Given the description of an element on the screen output the (x, y) to click on. 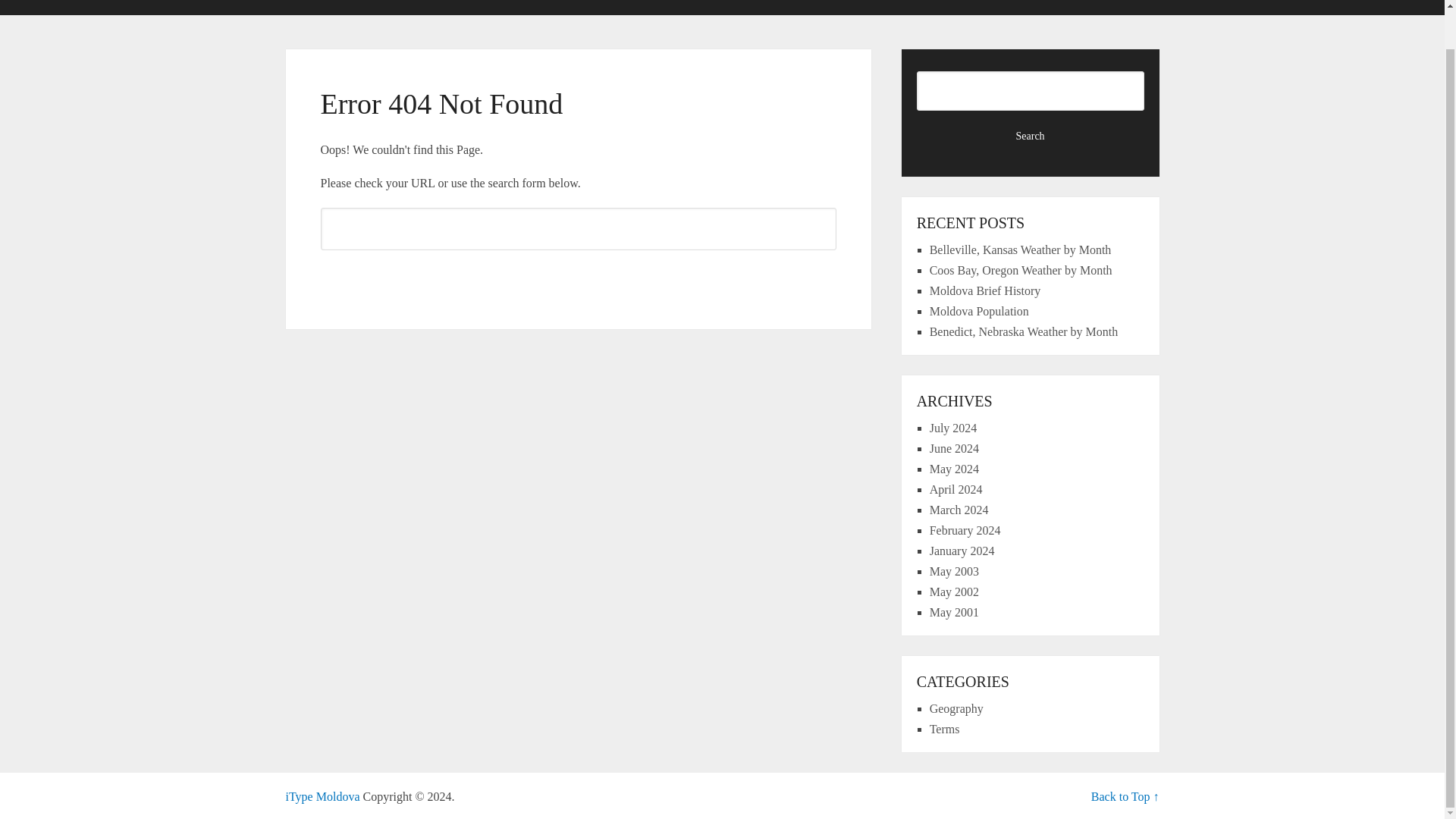
Search (577, 275)
Coos Bay, Oregon Weather by Month (1021, 269)
June 2024 (954, 448)
iType Moldova (322, 796)
TERMS (1118, 7)
January 2024 (962, 550)
March 2024 (959, 509)
May 2001 (954, 612)
May 2002 (954, 591)
April 2024 (956, 489)
Search (577, 275)
Benedict, Nebraska Weather by Month (1024, 331)
Belleville, Kansas Weather by Month (1021, 249)
May 2024 (954, 468)
Moldova Population (979, 310)
